Given the description of an element on the screen output the (x, y) to click on. 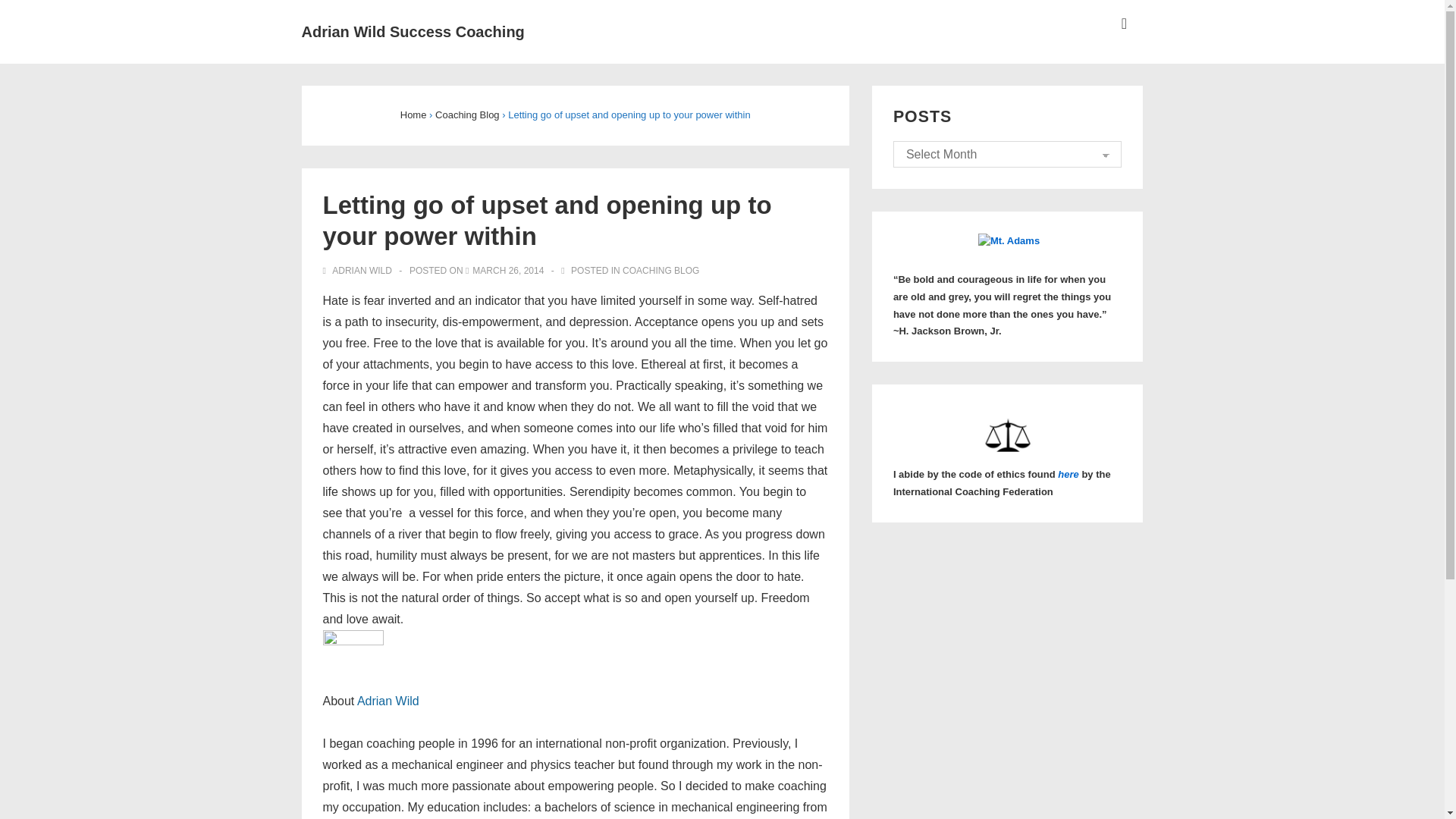
ADRIAN WILD (358, 270)
Adrian Wild (387, 700)
Home (413, 114)
Letting go of upset and opening up to your power within (507, 270)
Adrian Wild Success Coaching (412, 31)
MENU (1123, 23)
Posts by Adrian Wild (387, 700)
Coaching Blog (467, 114)
MARCH 26, 2014 (507, 270)
here (1068, 473)
View all posts by Adrian Wild (358, 270)
COACHING BLOG (660, 270)
Scales-of-justice (1007, 435)
